Given the description of an element on the screen output the (x, y) to click on. 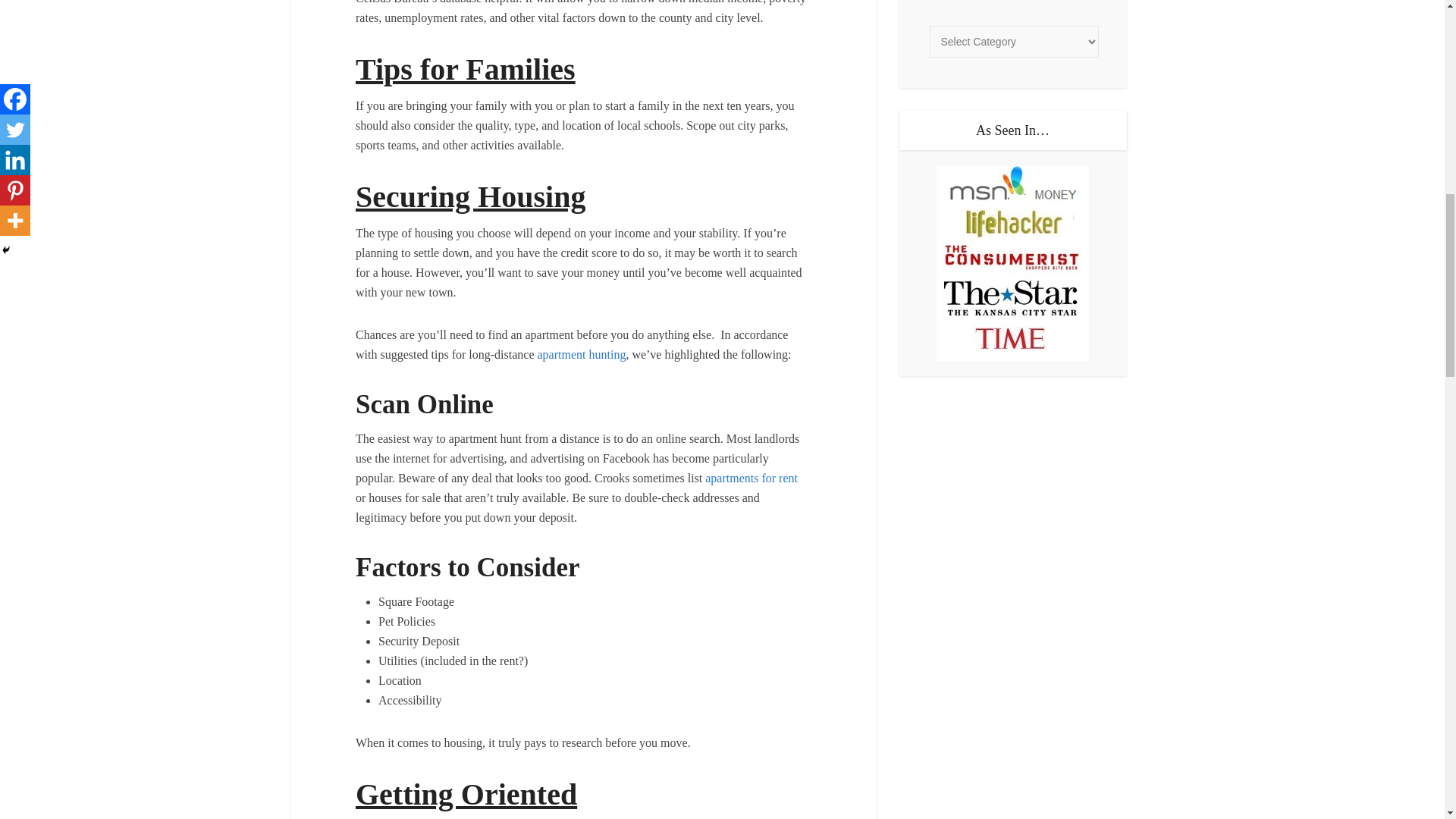
apartments for rent (750, 477)
apartment hunting (581, 354)
